Given the description of an element on the screen output the (x, y) to click on. 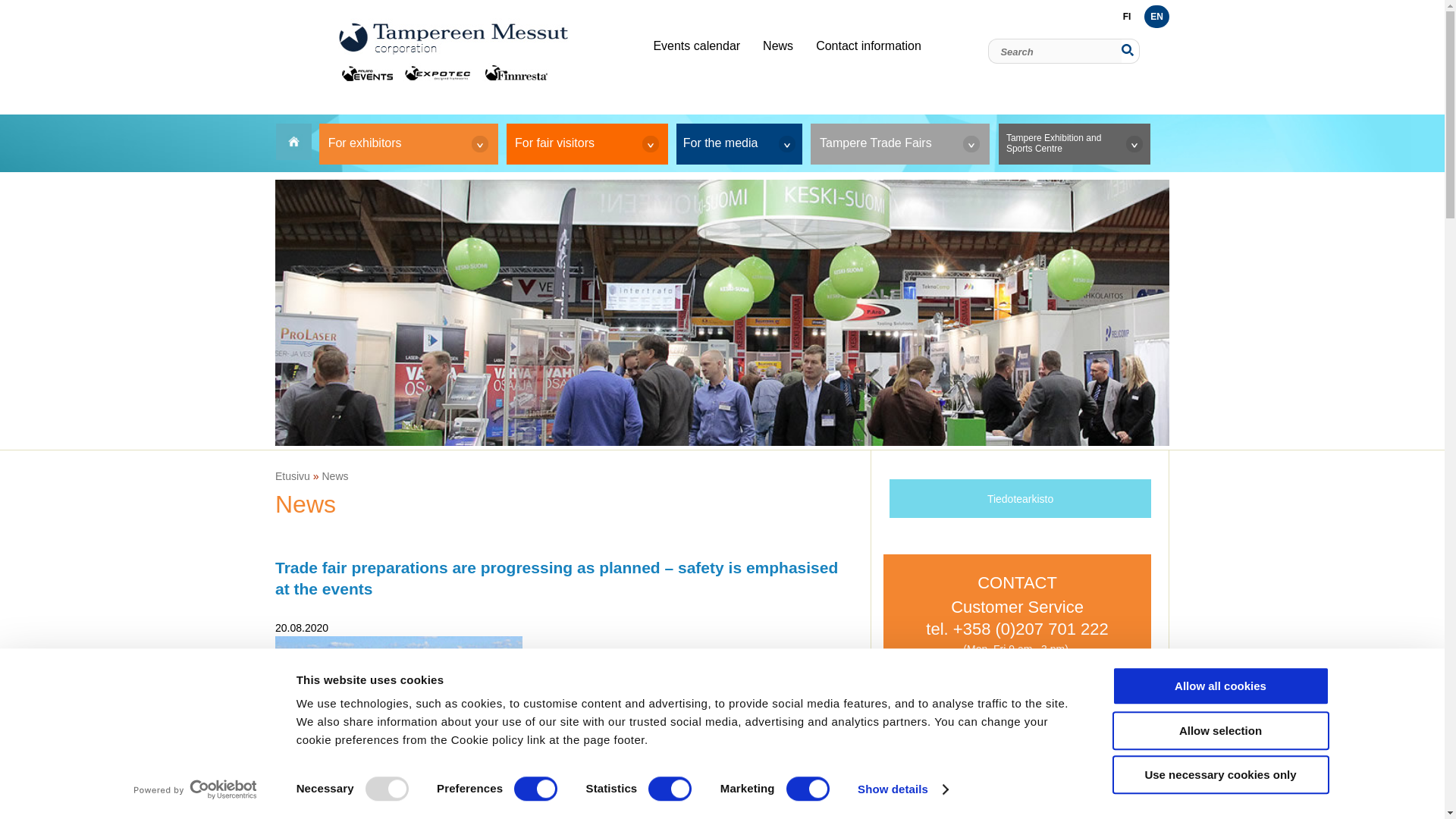
Allow selection (1219, 730)
For the media (739, 143)
For exhibitors (407, 143)
Show details (902, 789)
Contact information (869, 46)
Events calendar (696, 46)
For visitors (586, 143)
News (778, 46)
Use necessary cookies only (1219, 774)
Info (900, 143)
Tampere Exhibition and Sports Centre (1074, 143)
Allow all cookies (1219, 685)
